Given the description of an element on the screen output the (x, y) to click on. 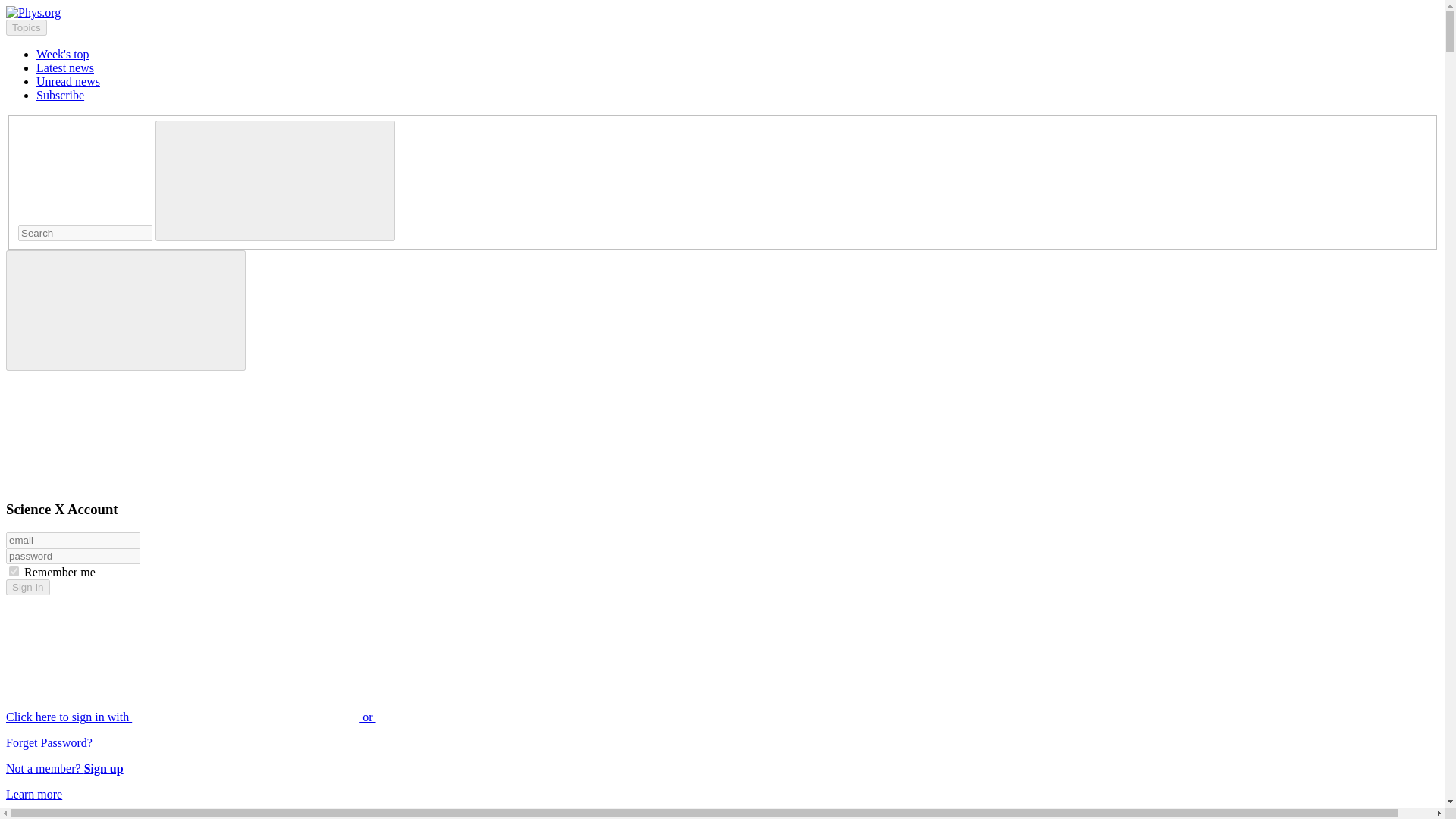
Click here to sign in with or (304, 716)
Week's top (62, 53)
Subscribe (60, 94)
Not a member? Sign up (64, 768)
Nanotechnology (76, 816)
on (13, 571)
Latest news (65, 67)
Sign In (27, 587)
Forget Password? (49, 742)
Topics (25, 27)
Unread news (68, 81)
Learn more (33, 793)
